Given the description of an element on the screen output the (x, y) to click on. 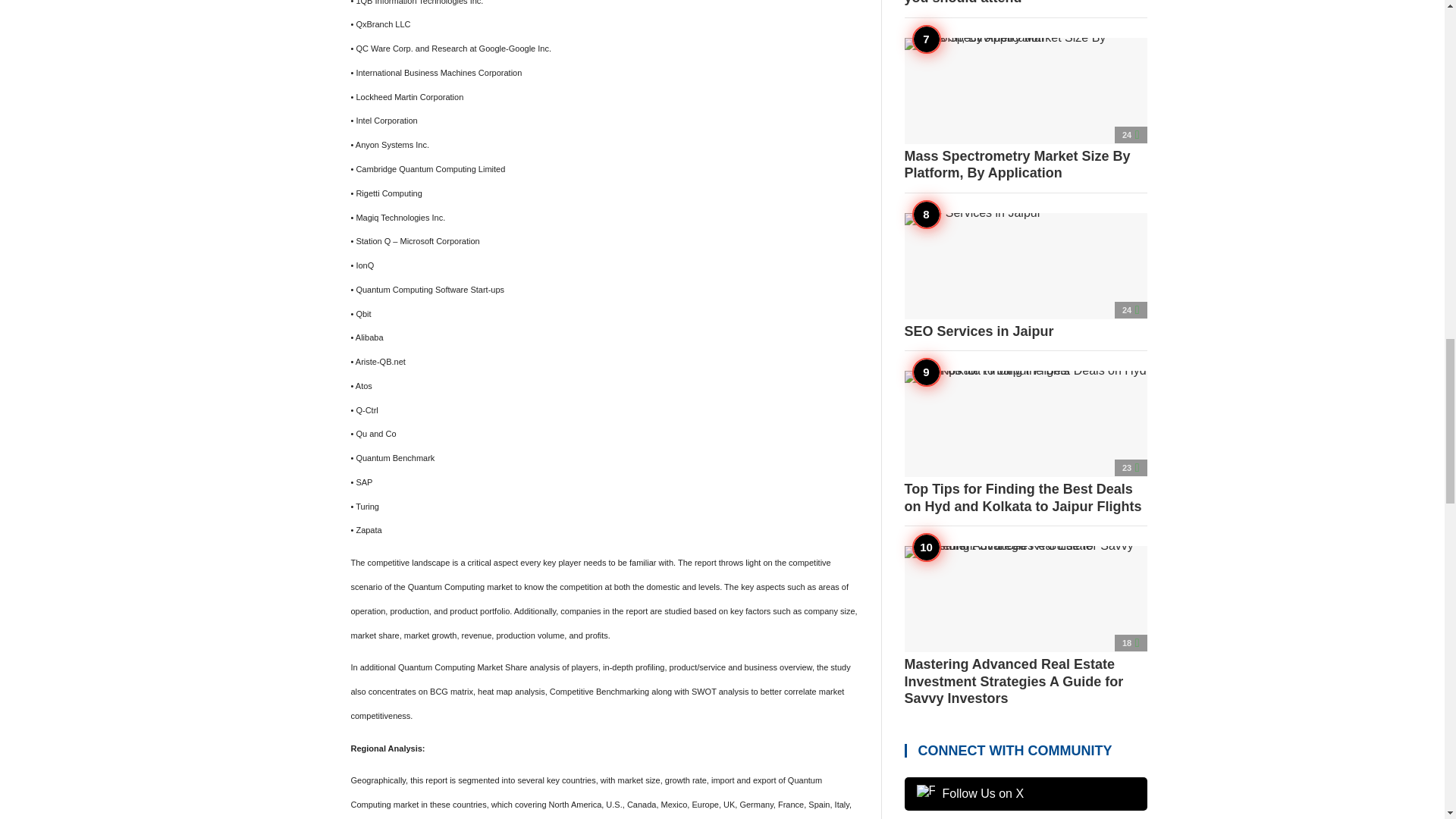
Mass Spectrometry Market Size By Platform, By Application (1025, 109)
10 meetups about nexus real estate you should attend (1025, 2)
SEO Services in Jaipur (1025, 275)
